Given the description of an element on the screen output the (x, y) to click on. 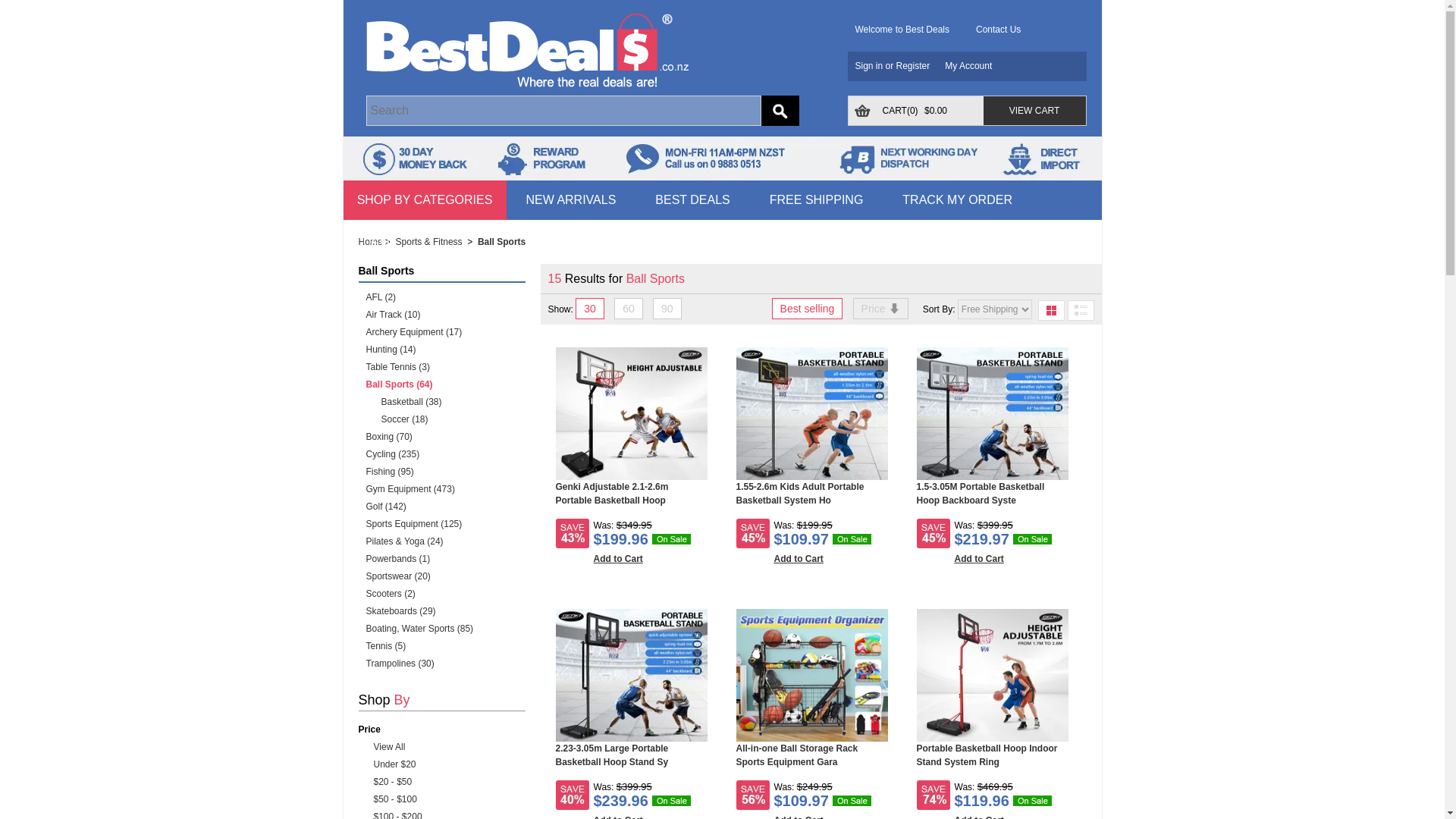
best deals new zealand (526, 43)
My Account (971, 65)
Contact Us (997, 29)
VIEW CART (1033, 110)
SHOP BY CATEGORIES (423, 200)
Sign in or Register (896, 65)
